Given the description of an element on the screen output the (x, y) to click on. 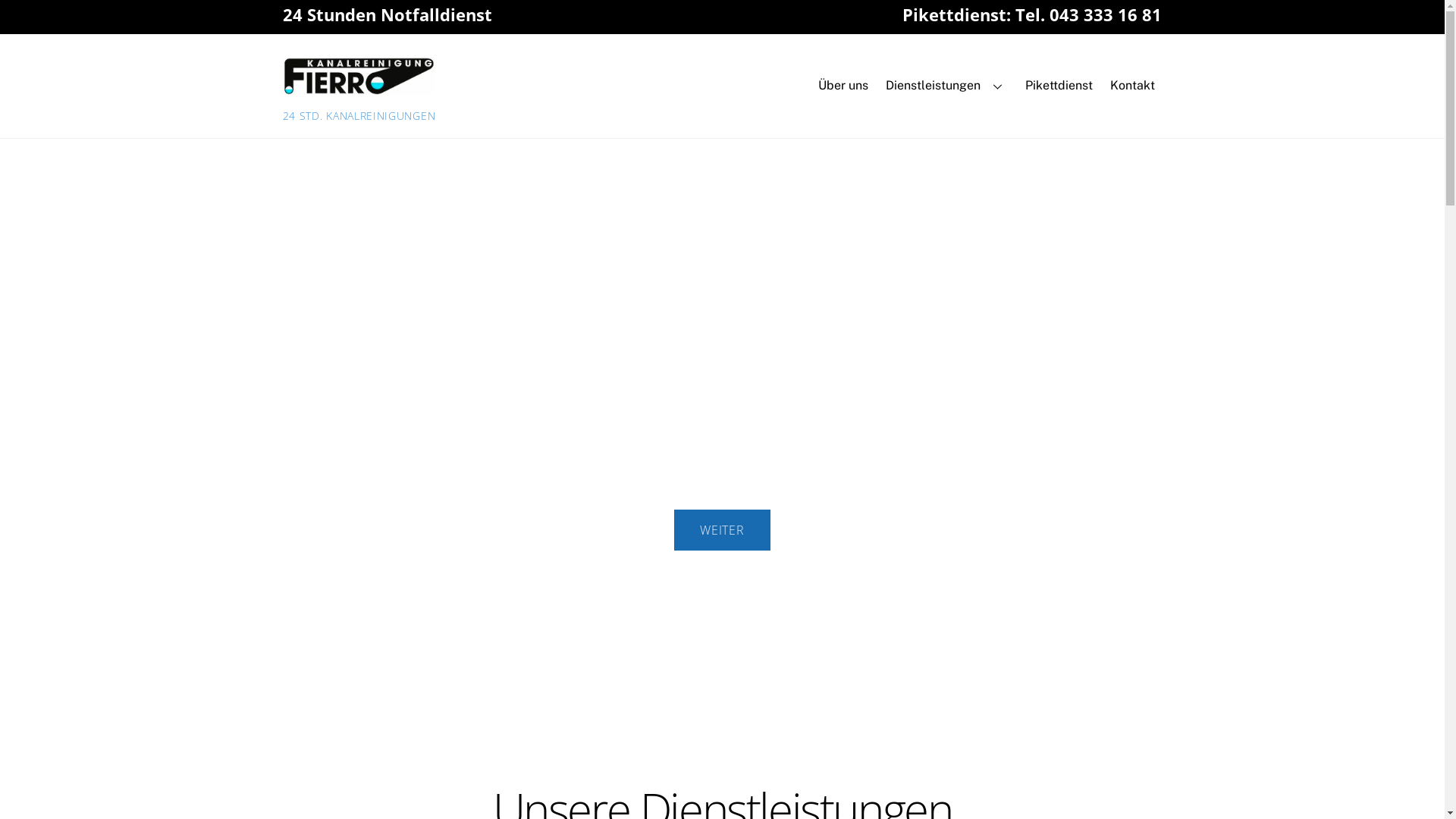
Pikettdienst Element type: text (1058, 85)
Tel. 043 333 16 81 Element type: text (1088, 14)
Fierro Kanalreinigung Element type: hover (357, 86)
WEITER Element type: text (722, 529)
Dienstleistungen Element type: text (946, 85)
Kontakt Element type: text (1131, 85)
FIERRO_Logo Element type: hover (357, 75)
